Given the description of an element on the screen output the (x, y) to click on. 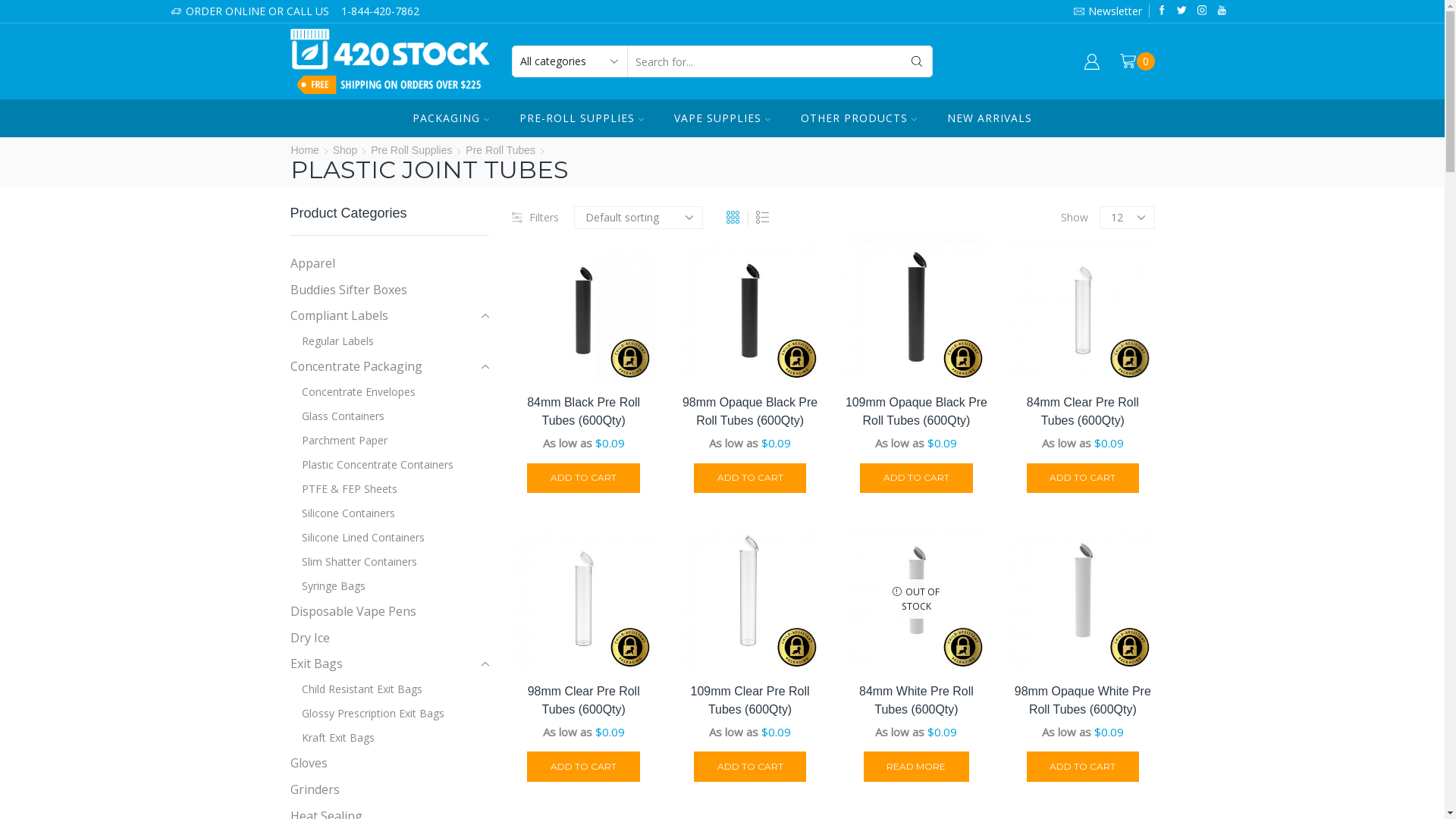
84mm Black Pre Roll Tubes (600Qty) Element type: text (583, 411)
OTHER PRODUCTS Element type: text (858, 118)
Shop Element type: text (345, 149)
Slim Shatter Containers Element type: text (352, 561)
0 Element type: text (1137, 61)
Glossy Prescription Exit Bags Element type: text (366, 713)
Child Resistant Exit Bags Element type: text (355, 689)
ADD TO CART Element type: text (1082, 767)
Buddies Sifter Boxes Element type: text (347, 289)
Glass Containers Element type: text (336, 416)
Pre Roll Tubes Element type: text (500, 149)
Pre Roll Supplies Element type: text (411, 149)
Log in Element type: text (984, 271)
Concentrate Envelopes Element type: text (351, 391)
ADD TO CART Element type: text (1082, 479)
ADD TO CART Element type: text (583, 479)
Facebook Element type: hover (1162, 10)
84mm Clear Pre Roll Tubes (600Qty) Element type: text (1082, 411)
Disposable Vape Pens Element type: text (352, 611)
Home Element type: text (304, 149)
Apparel Element type: text (311, 265)
Instagram Element type: hover (1202, 10)
Gloves Element type: text (307, 762)
Plastic Concentrate Containers Element type: text (370, 464)
Silicone Containers Element type: text (341, 513)
Kraft Exit Bags Element type: text (331, 737)
Parchment Paper Element type: text (337, 440)
Filters Element type: text (534, 217)
ADD TO CART Element type: text (749, 767)
Syringe Bags Element type: text (326, 586)
PACKAGING Element type: text (450, 118)
PTFE & FEP Sheets Element type: text (342, 488)
ADD TO CART Element type: text (749, 479)
VAPE SUPPLIES Element type: text (721, 118)
ADD TO CART Element type: text (583, 767)
98mm Opaque Black Pre Roll Tubes (600Qty) Element type: text (749, 411)
Grinders Element type: text (313, 789)
Linkedin Element type: hover (1221, 10)
NEW ARRIVALS Element type: text (989, 118)
Regular Labels Element type: text (331, 341)
Exit Bags Element type: text (315, 663)
Compliant Labels Element type: text (338, 315)
READ MORE Element type: text (916, 767)
84mm White Pre Roll Tubes (600Qty) Element type: text (916, 700)
98mm Clear Pre Roll Tubes (600Qty) Element type: text (583, 700)
Dry Ice Element type: text (309, 637)
109mm Opaque Black Pre Roll Tubes (600Qty) Element type: text (916, 411)
ADD TO CART Element type: text (915, 479)
PRE-ROLL SUPPLIES Element type: text (581, 118)
109mm Clear Pre Roll Tubes (600Qty) Element type: text (749, 700)
Concentrate Packaging Element type: text (355, 366)
Twitter Element type: hover (1181, 10)
98mm Opaque White Pre Roll Tubes (600Qty) Element type: text (1082, 700)
Silicone Lined Containers Element type: text (356, 537)
